Given the description of an element on the screen output the (x, y) to click on. 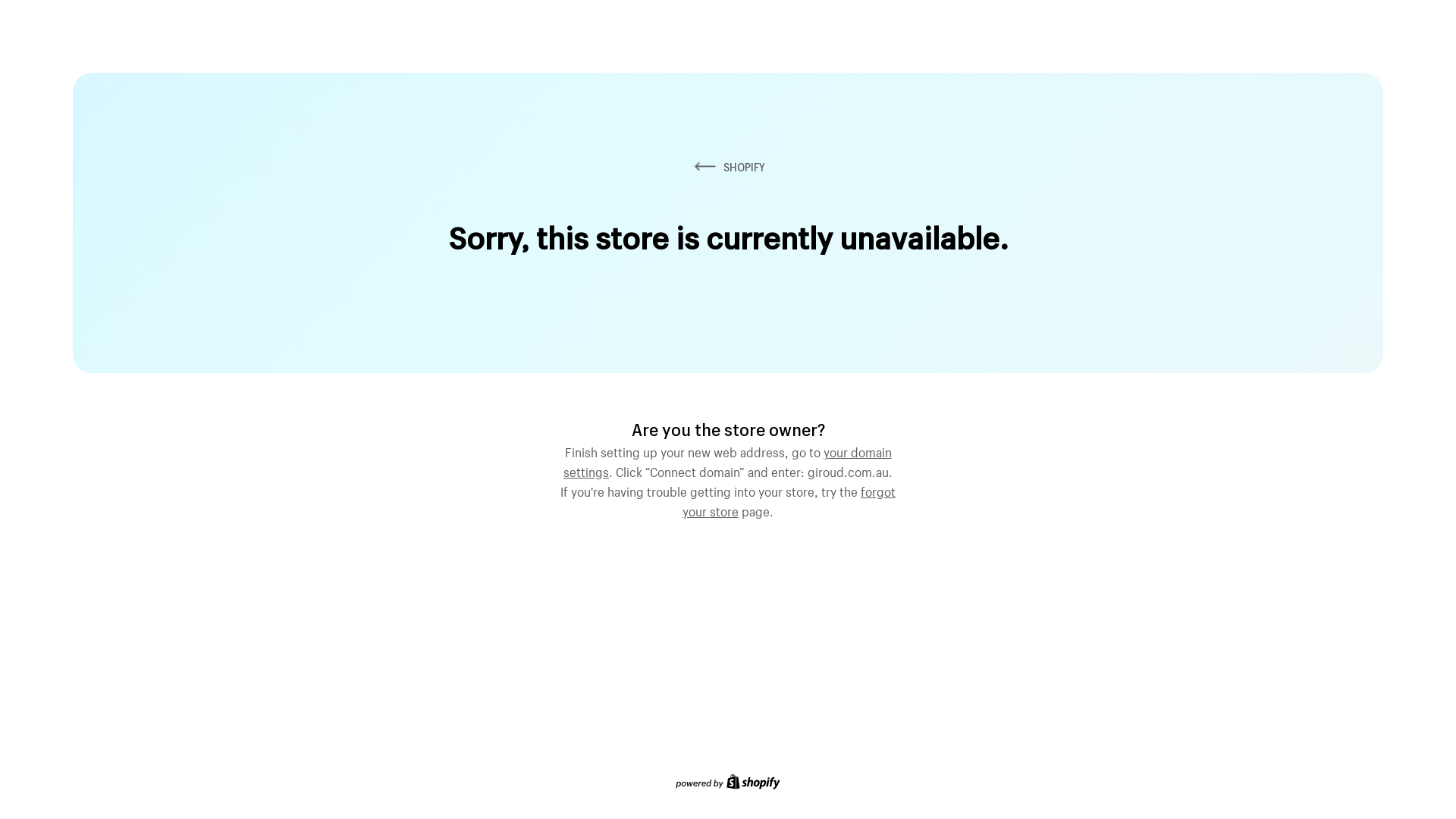
forgot your store Element type: text (788, 499)
your domain settings Element type: text (727, 460)
SHOPIFY Element type: text (727, 167)
